Given the description of an element on the screen output the (x, y) to click on. 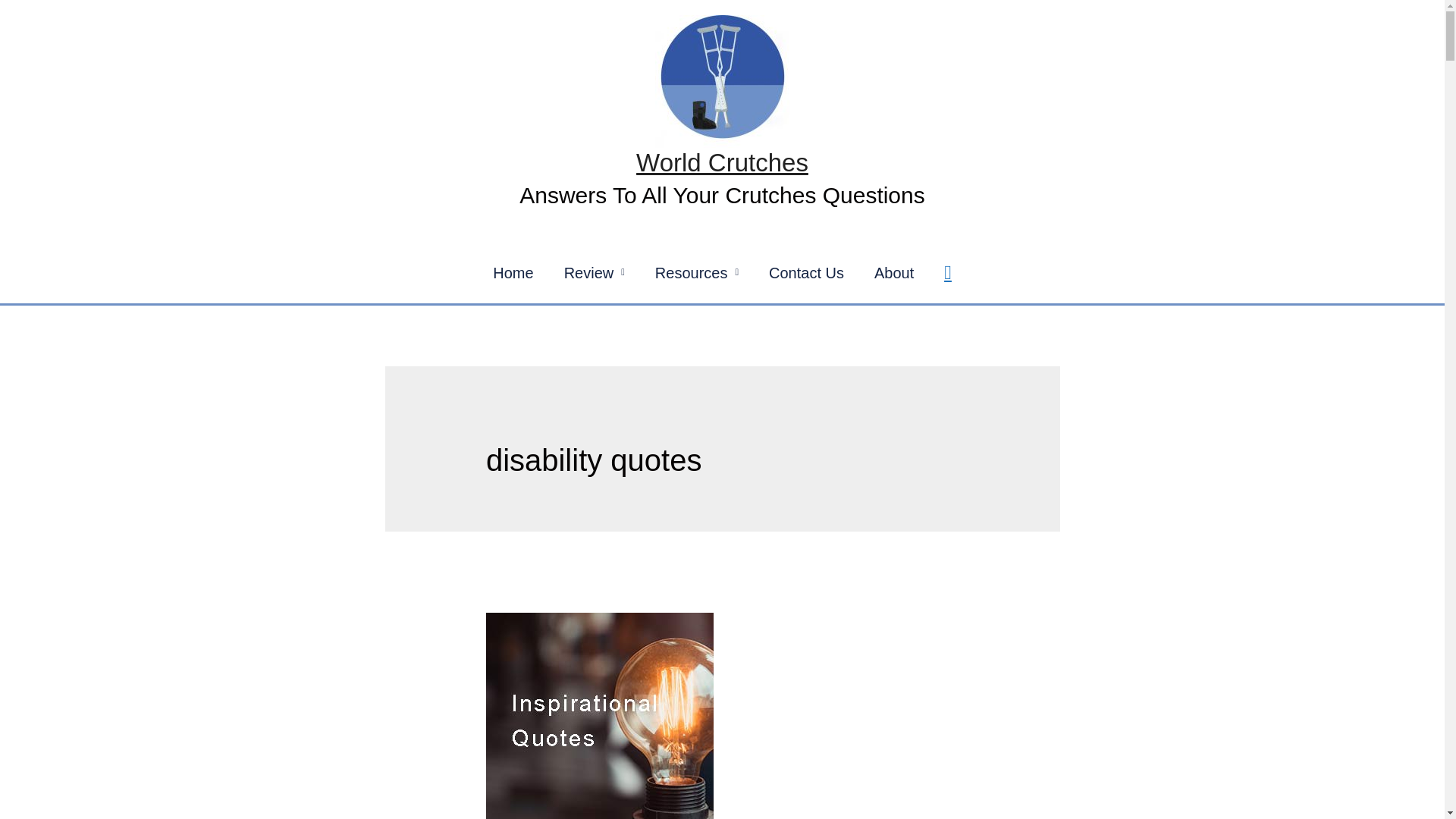
Review (594, 272)
Contact Us (806, 272)
Home (512, 272)
World Crutches (722, 162)
About (893, 272)
Resources (697, 272)
